Given the description of an element on the screen output the (x, y) to click on. 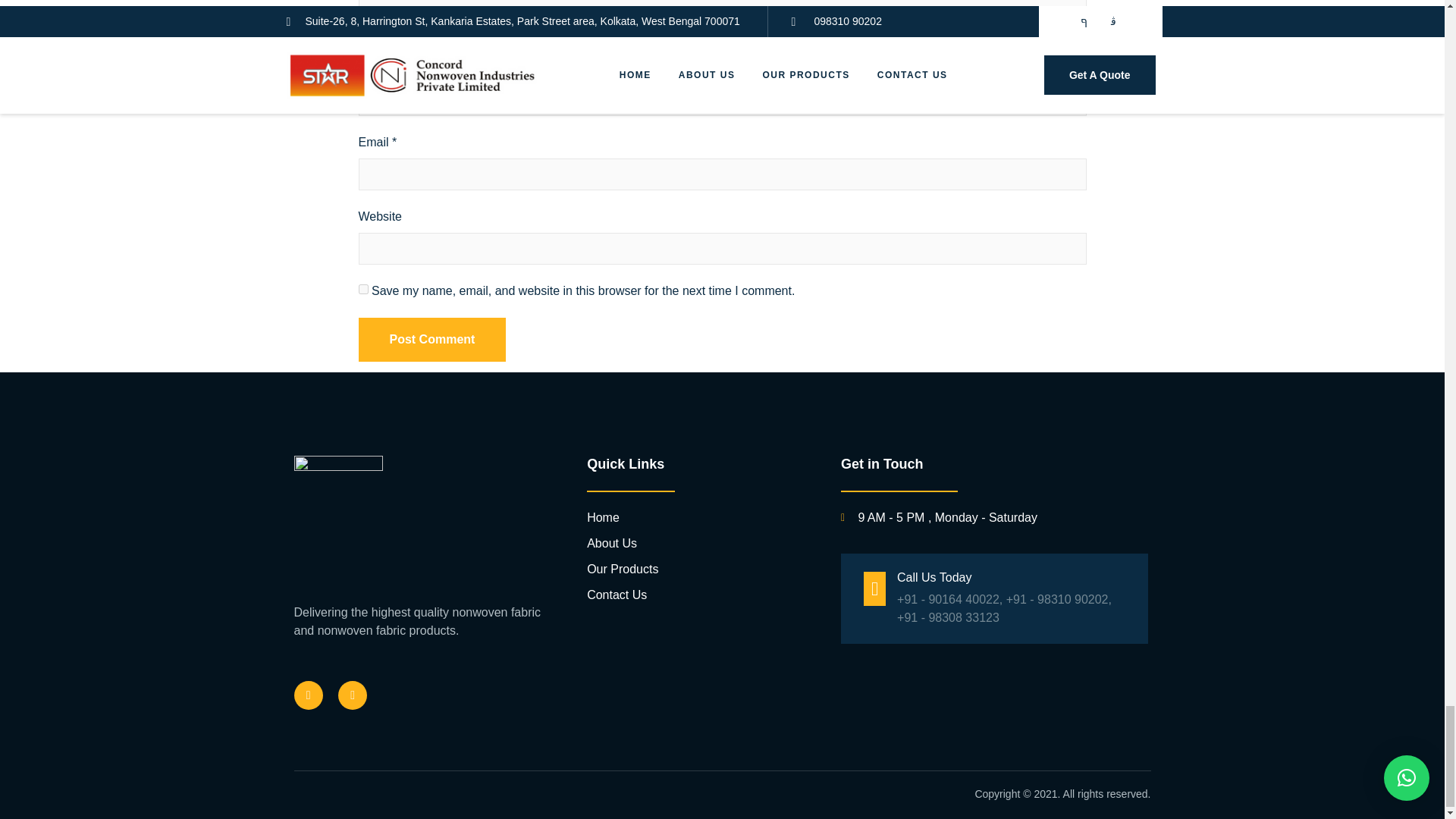
Post Comment (431, 339)
Home (702, 517)
yes (363, 289)
Post Comment (431, 339)
Our Products (702, 569)
About Us (702, 543)
Contact Us (702, 595)
